Given the description of an element on the screen output the (x, y) to click on. 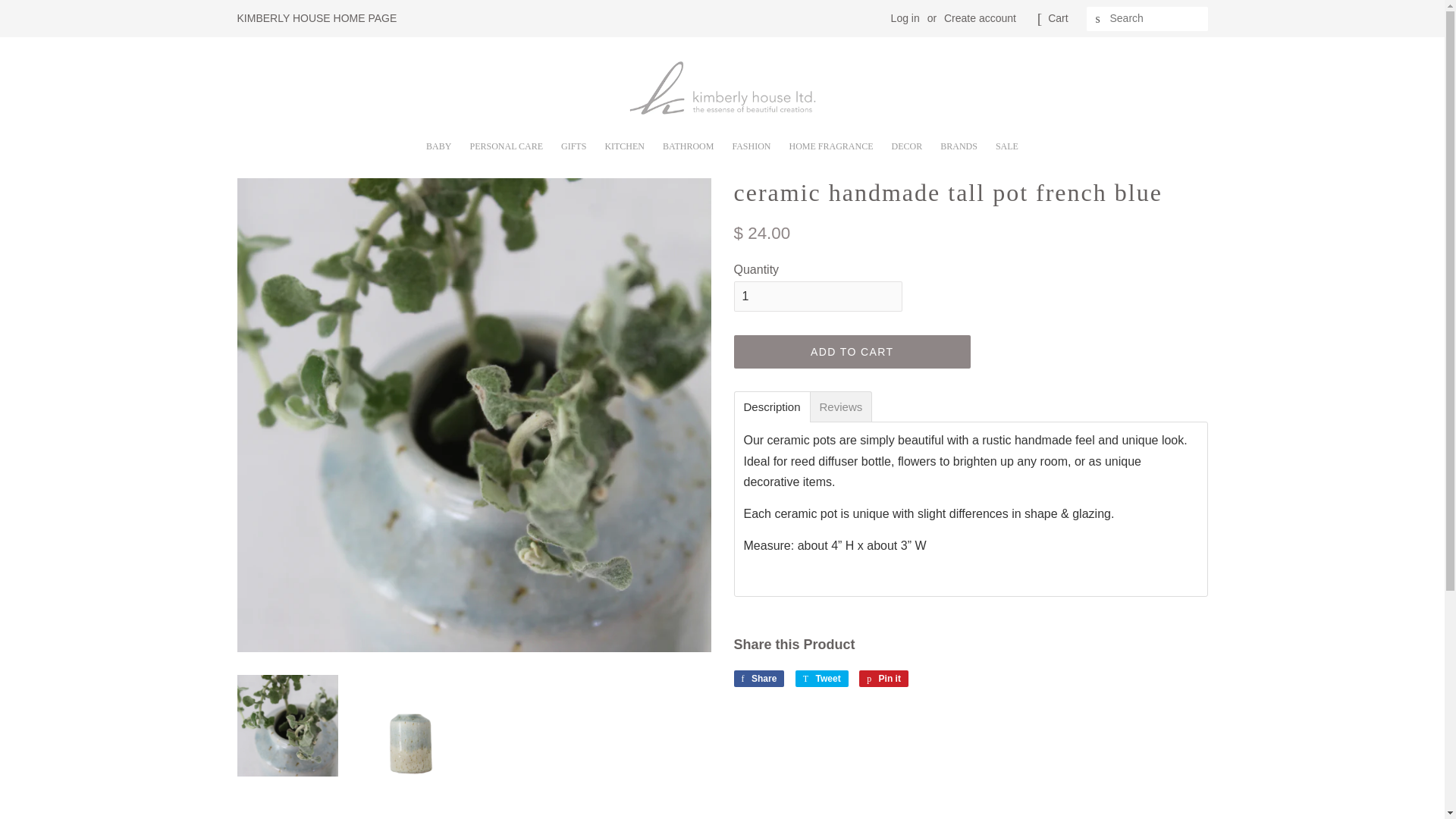
SEARCH (1097, 18)
GIFTS (573, 141)
PERSONAL CARE (505, 141)
Cart (1057, 18)
KIMBERLY HOUSE HOME PAGE (315, 18)
BATHROOM (687, 141)
SALE (1007, 141)
BRANDS (959, 141)
DECOR (906, 141)
Create account (979, 18)
